Given the description of an element on the screen output the (x, y) to click on. 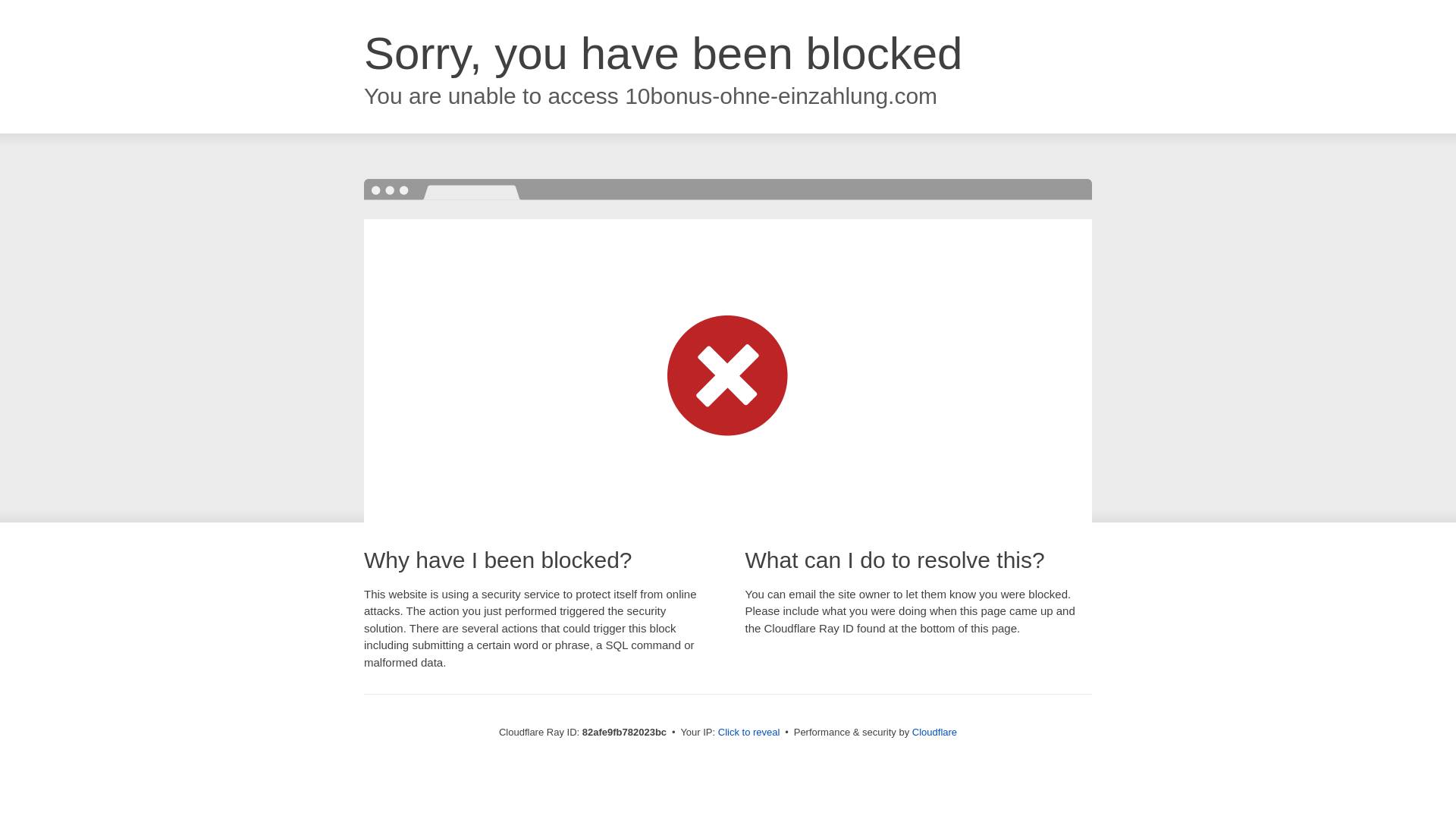
Click to reveal Element type: text (749, 732)
Cloudflare Element type: text (934, 731)
